Given the description of an element on the screen output the (x, y) to click on. 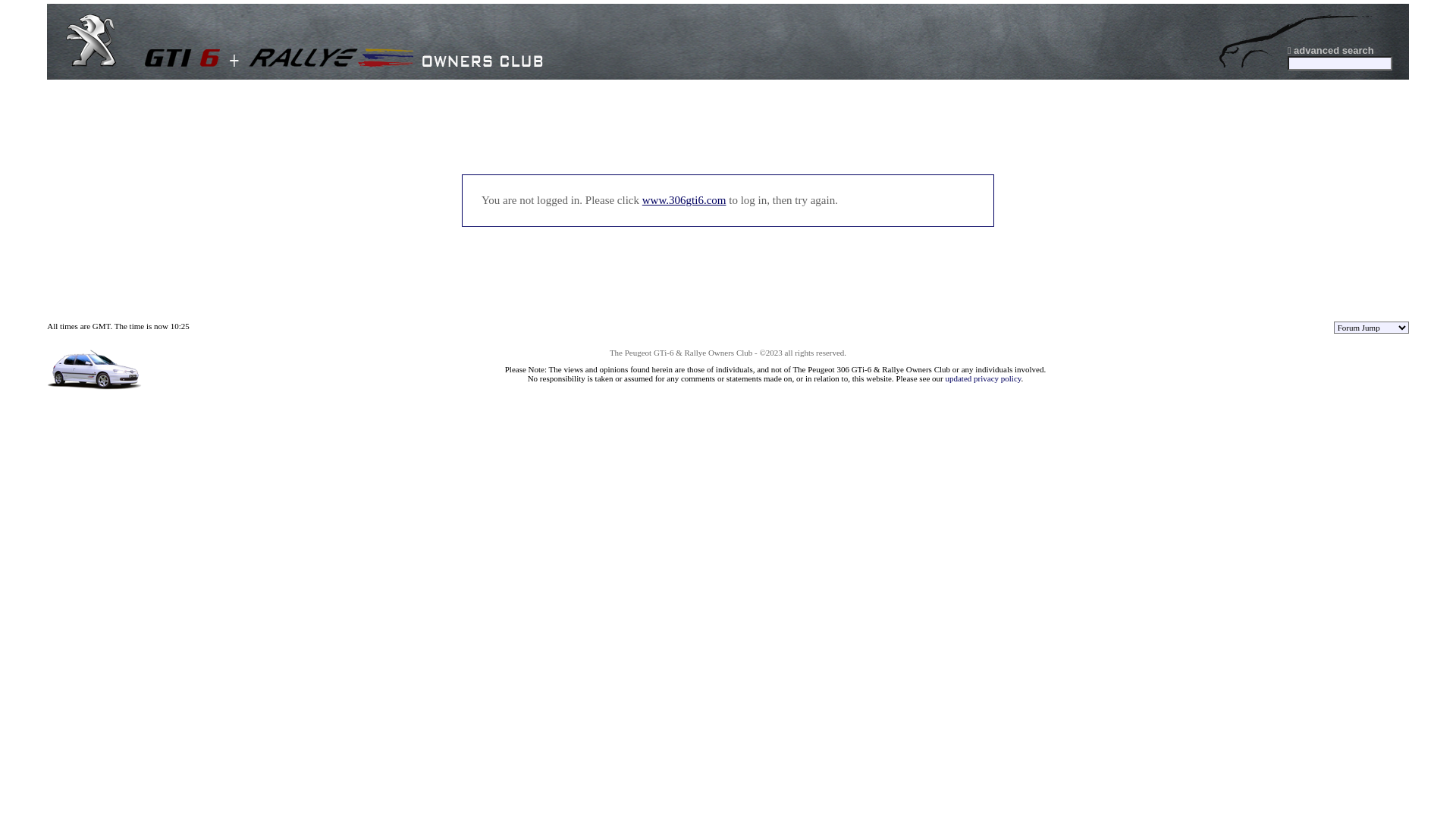
updated privacy policy Element type: text (982, 377)
www.306gti6.com Element type: text (684, 200)
Home Element type: hover (90, 63)
